Given the description of an element on the screen output the (x, y) to click on. 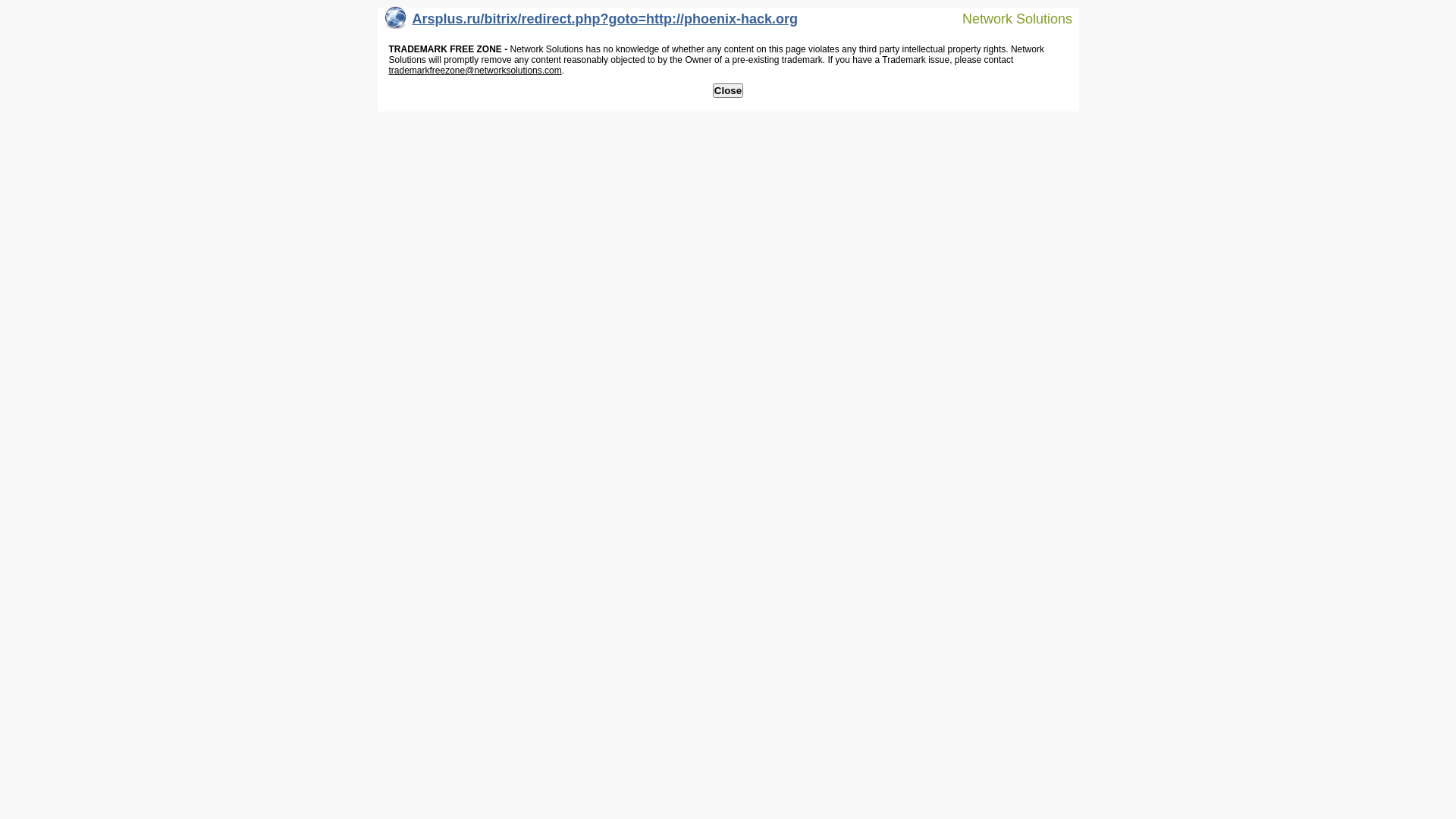
Network Solutions Element type: text (1007, 17)
trademarkfreezone@networksolutions.com Element type: text (474, 70)
Close Element type: text (727, 90)
Arsplus.ru/bitrix/redirect.php?goto=http://phoenix-hack.org Element type: text (591, 21)
